Given the description of an element on the screen output the (x, y) to click on. 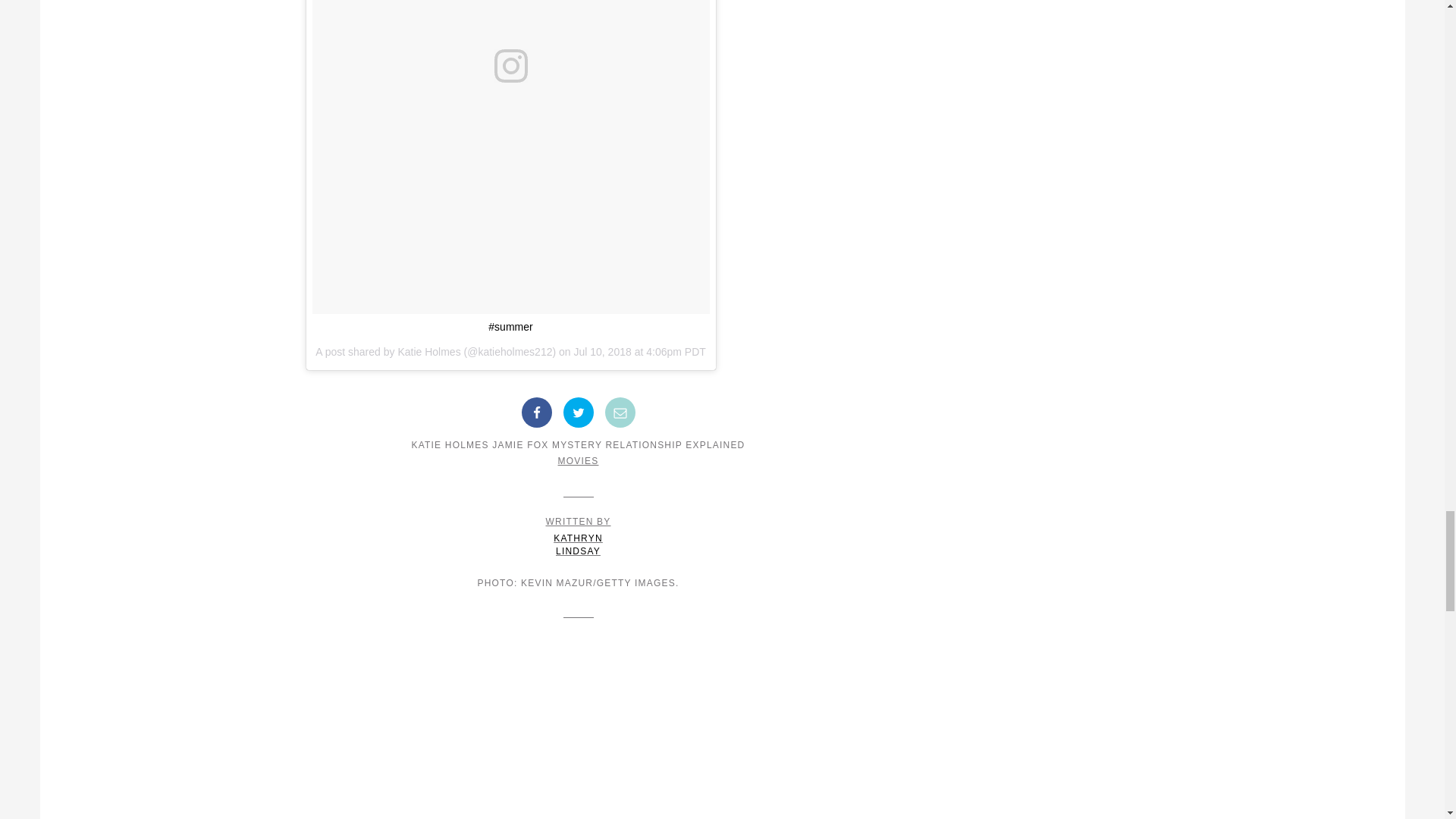
Katie Holmes (577, 536)
Share by Email (428, 351)
MOVIES (619, 412)
Share on Twitter (577, 460)
